Given the description of an element on the screen output the (x, y) to click on. 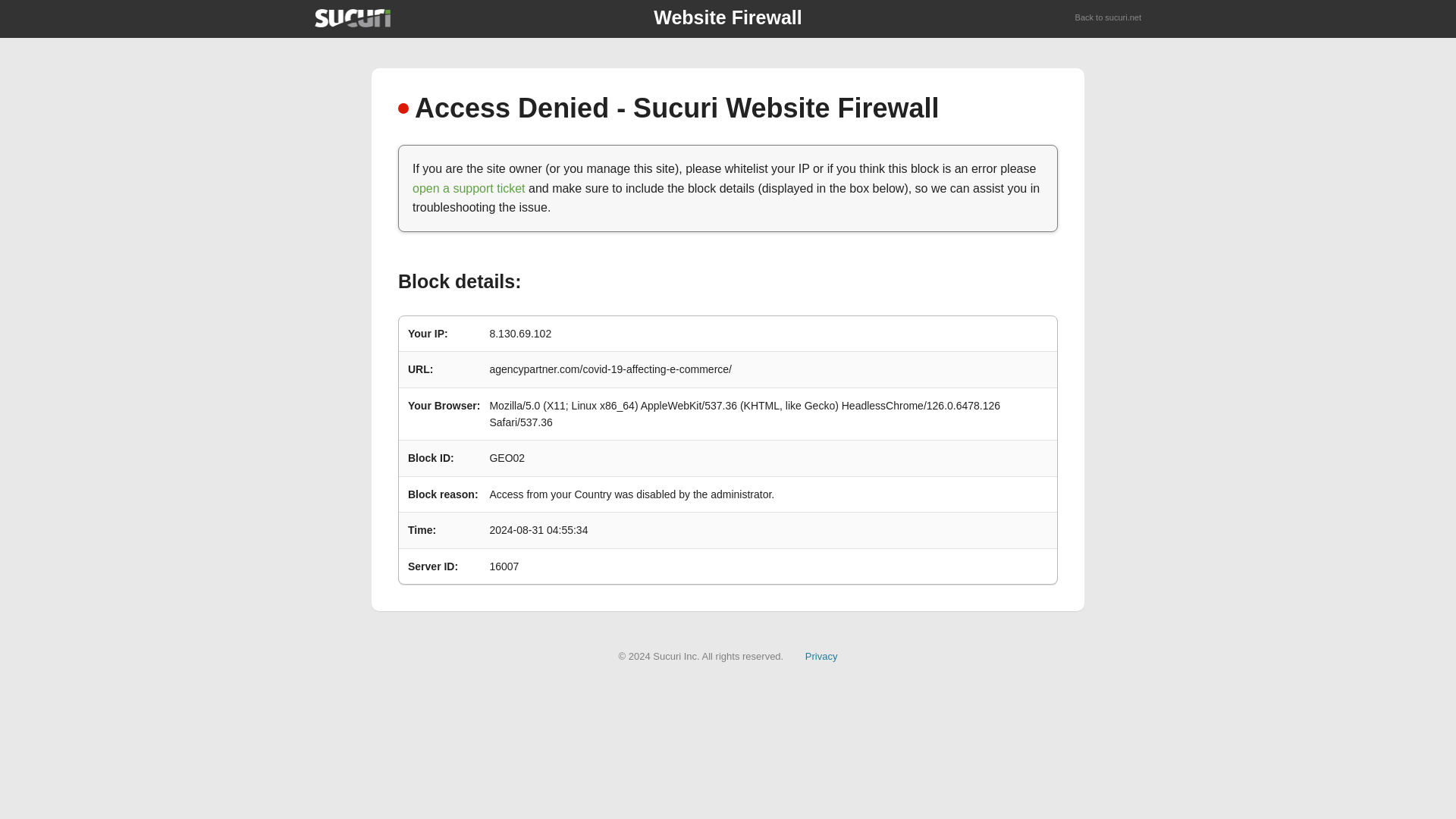
open a support ticket (468, 187)
Back to sucuri.net (1108, 18)
Privacy (821, 655)
